Given the description of an element on the screen output the (x, y) to click on. 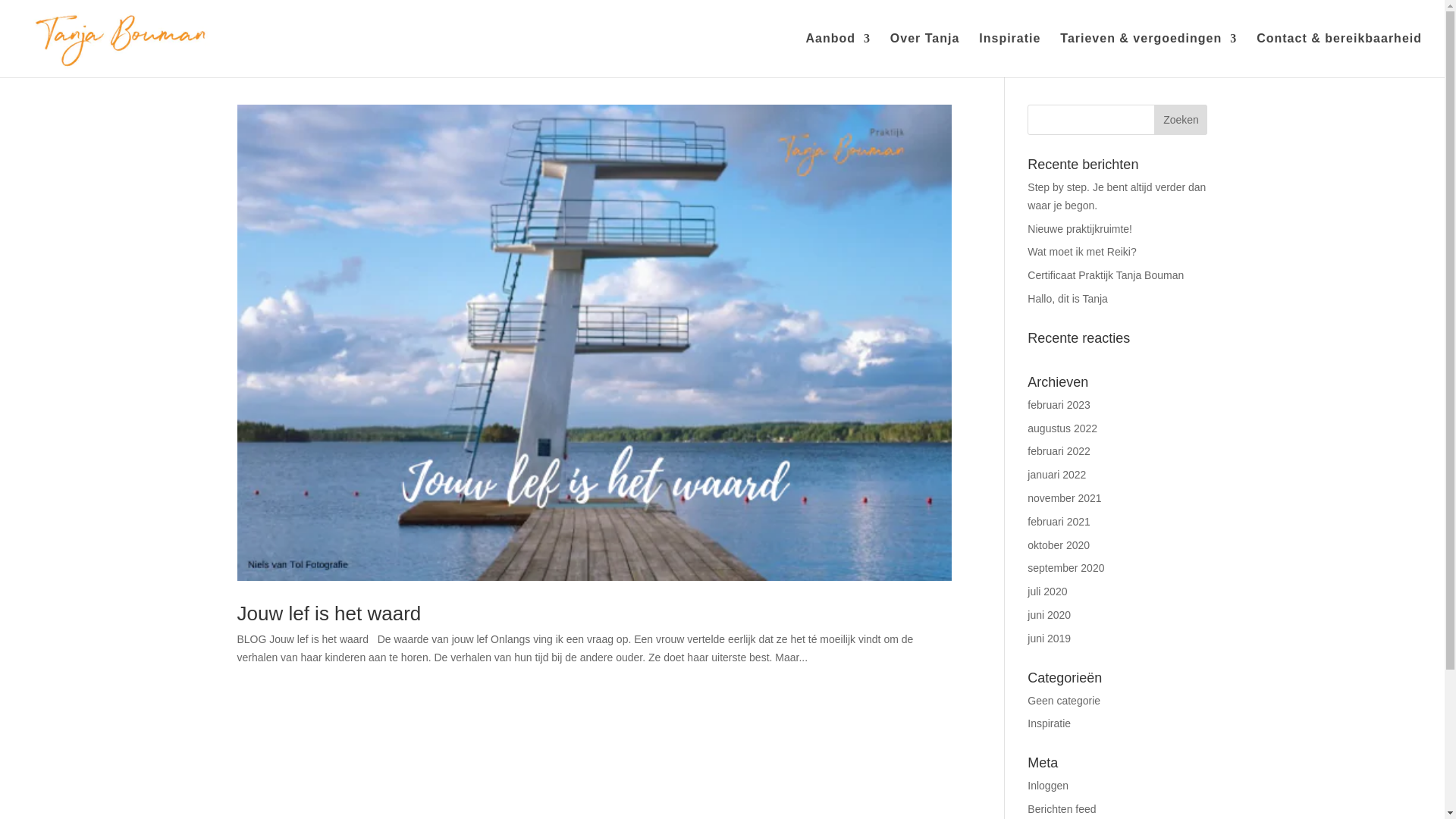
november 2021 (1063, 498)
Zoeken (1180, 119)
Aanbod (837, 54)
Step by step. Je bent altijd verder dan waar je begon. (1116, 195)
Inspiratie (1048, 723)
Wat moet ik met Reiki? (1081, 251)
januari 2022 (1056, 474)
februari 2022 (1058, 451)
februari 2023 (1058, 404)
Inloggen (1047, 785)
